Given the description of an element on the screen output the (x, y) to click on. 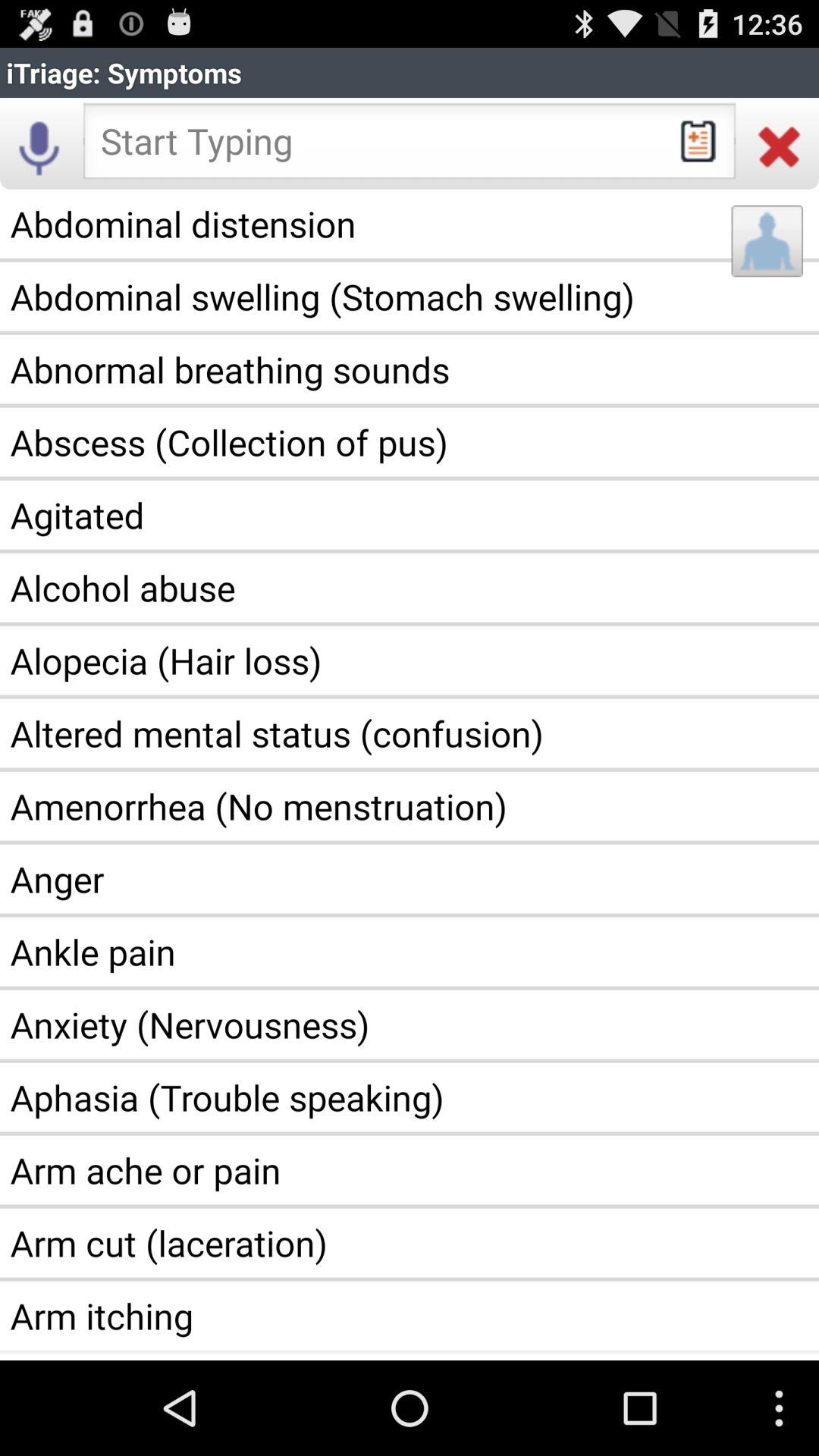
click icon below itriage: symptoms item (779, 145)
